Given the description of an element on the screen output the (x, y) to click on. 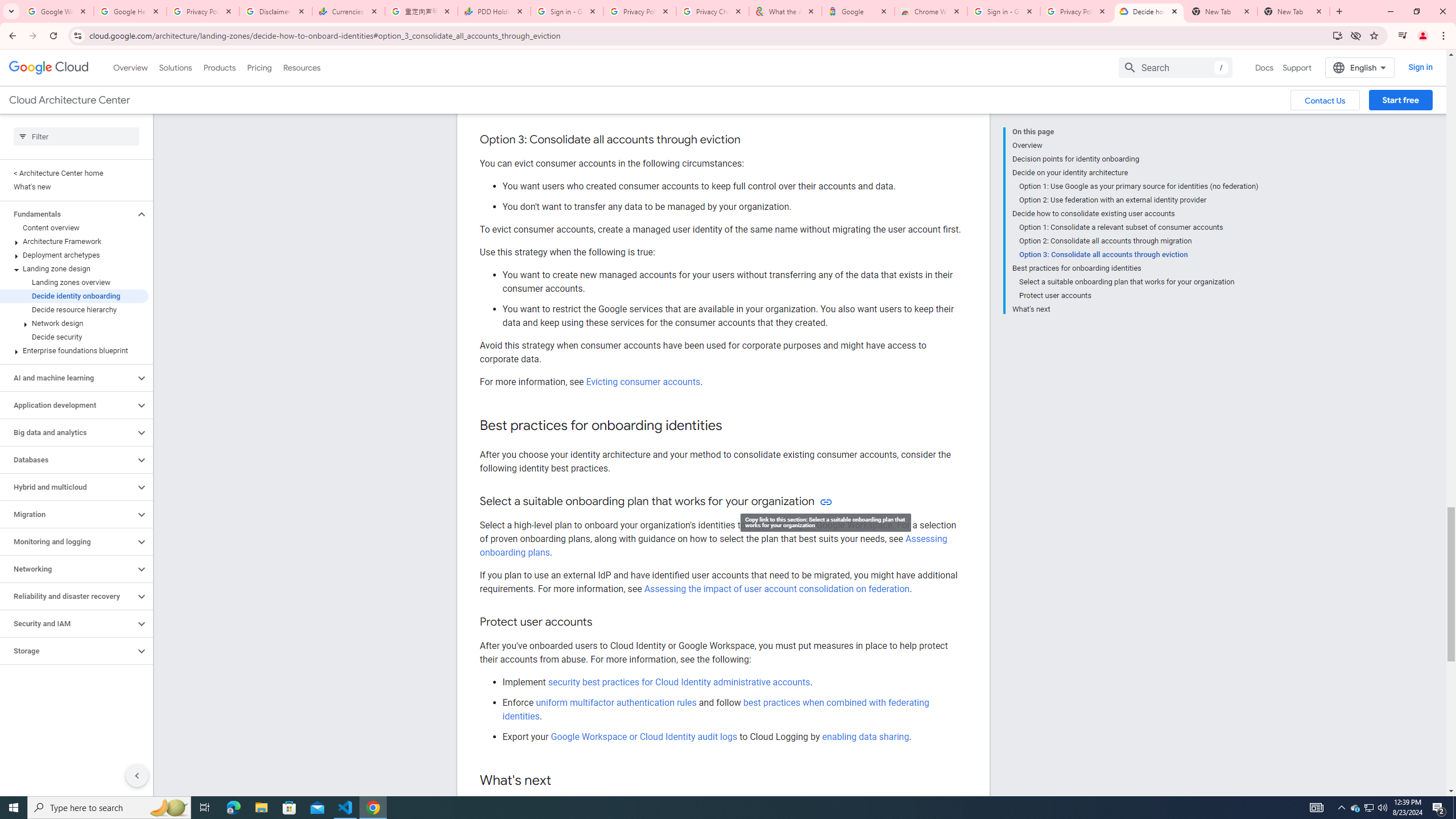
Option 2: Use federation with an external identity provider (1138, 200)
What's new (74, 187)
Products (218, 67)
Decide security (74, 336)
Start free (1400, 100)
English (1359, 67)
Option 1: Consolidate a relevant subset of consumer accounts (1138, 227)
Solutions (175, 67)
Copy link to this section: What's next (563, 780)
